Given the description of an element on the screen output the (x, y) to click on. 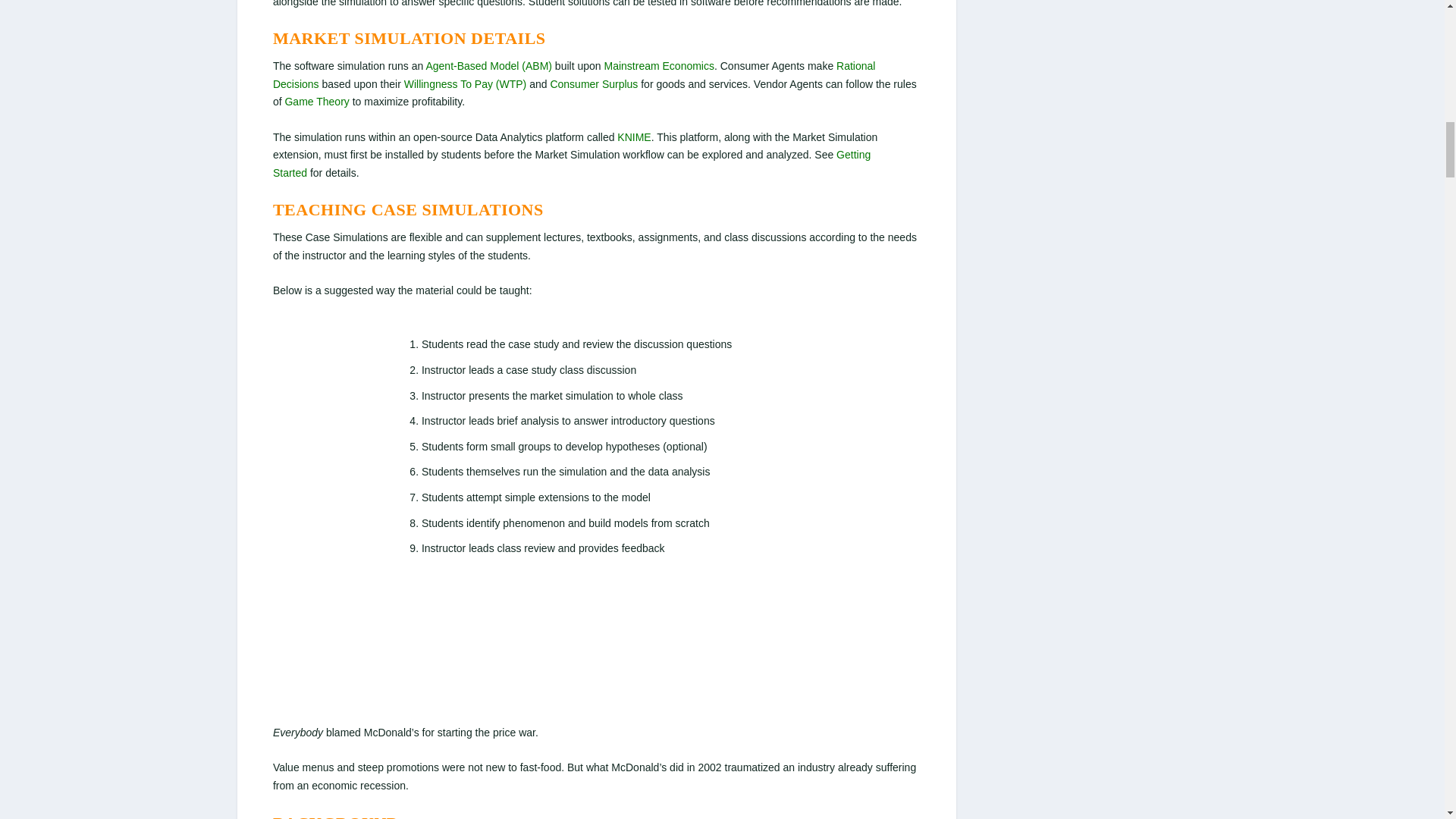
Getting Started (571, 163)
Mainstream Economics (659, 65)
Consumer Surplus (593, 83)
Rational Decisions (574, 74)
KNIME (633, 137)
Game Theory (316, 101)
